Given the description of an element on the screen output the (x, y) to click on. 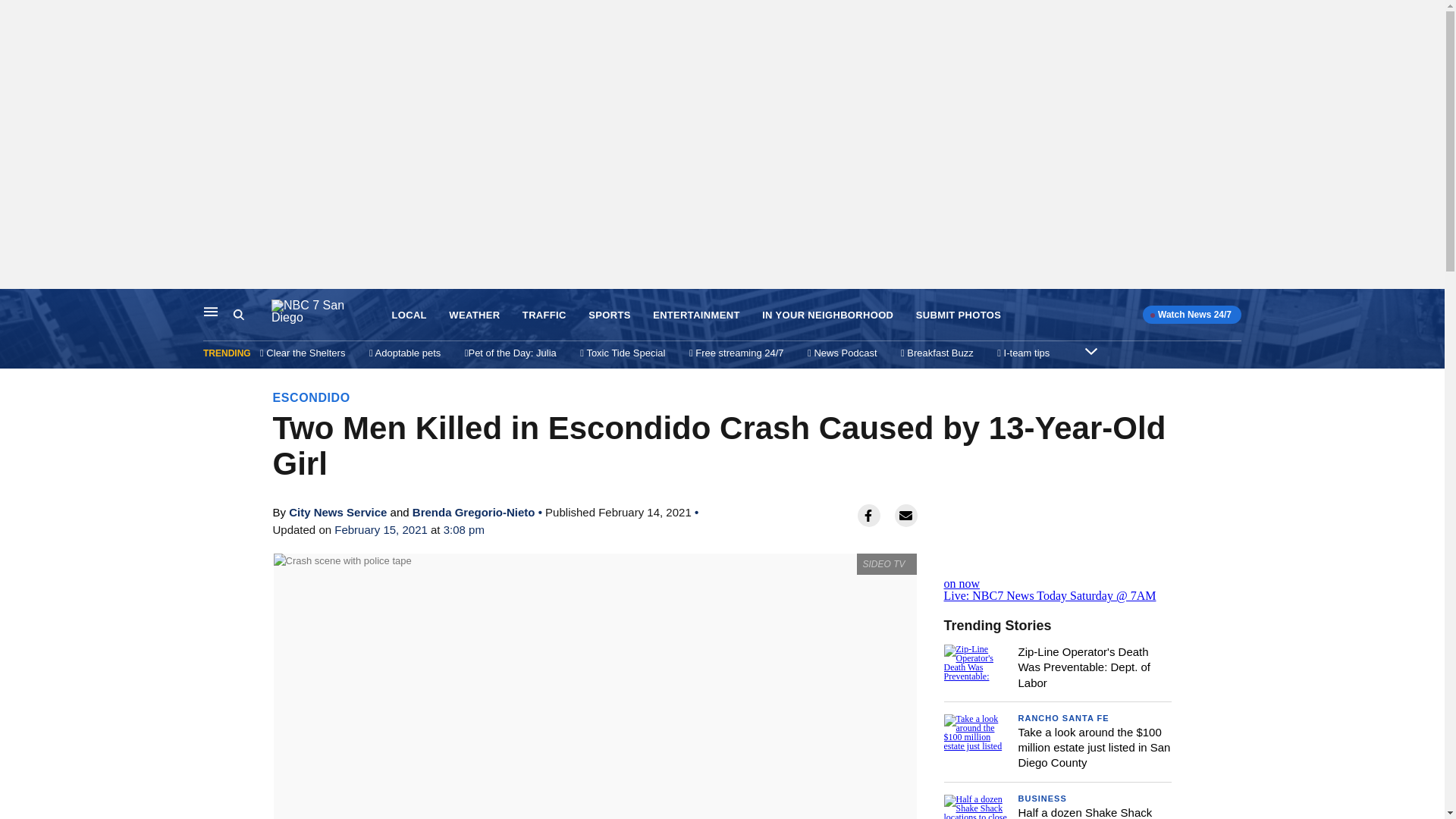
LOCAL (408, 315)
WEATHER (473, 315)
Search (238, 314)
TRAFFIC (544, 315)
Main Navigation (210, 311)
Zip-Line Operator's Death Was Preventable: Dept. of Labor (1083, 667)
Expand (1090, 350)
Brenda Gregorio-Nieto (473, 512)
ESCONDIDO (311, 397)
Search (252, 314)
